Given the description of an element on the screen output the (x, y) to click on. 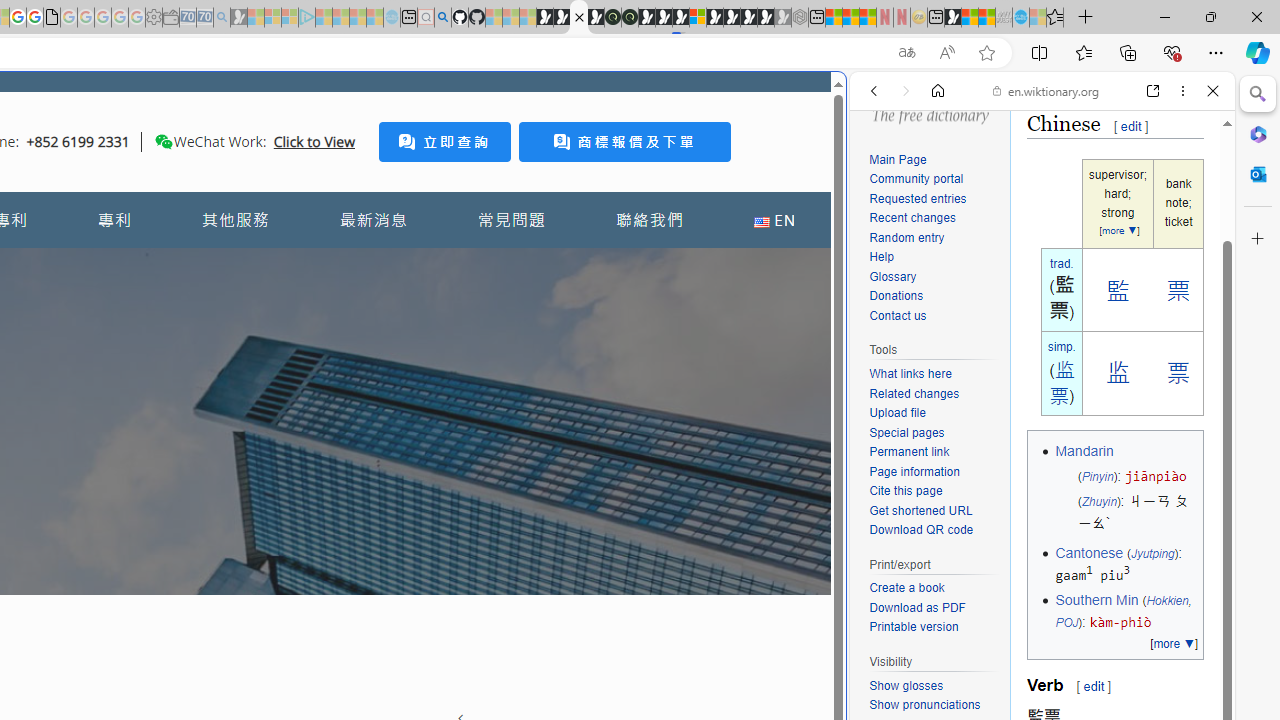
Upload file (934, 413)
Frequently visited (418, 265)
Special pages (906, 431)
Main Page (934, 160)
Random entry (934, 238)
Download as PDF (934, 608)
